Given the description of an element on the screen output the (x, y) to click on. 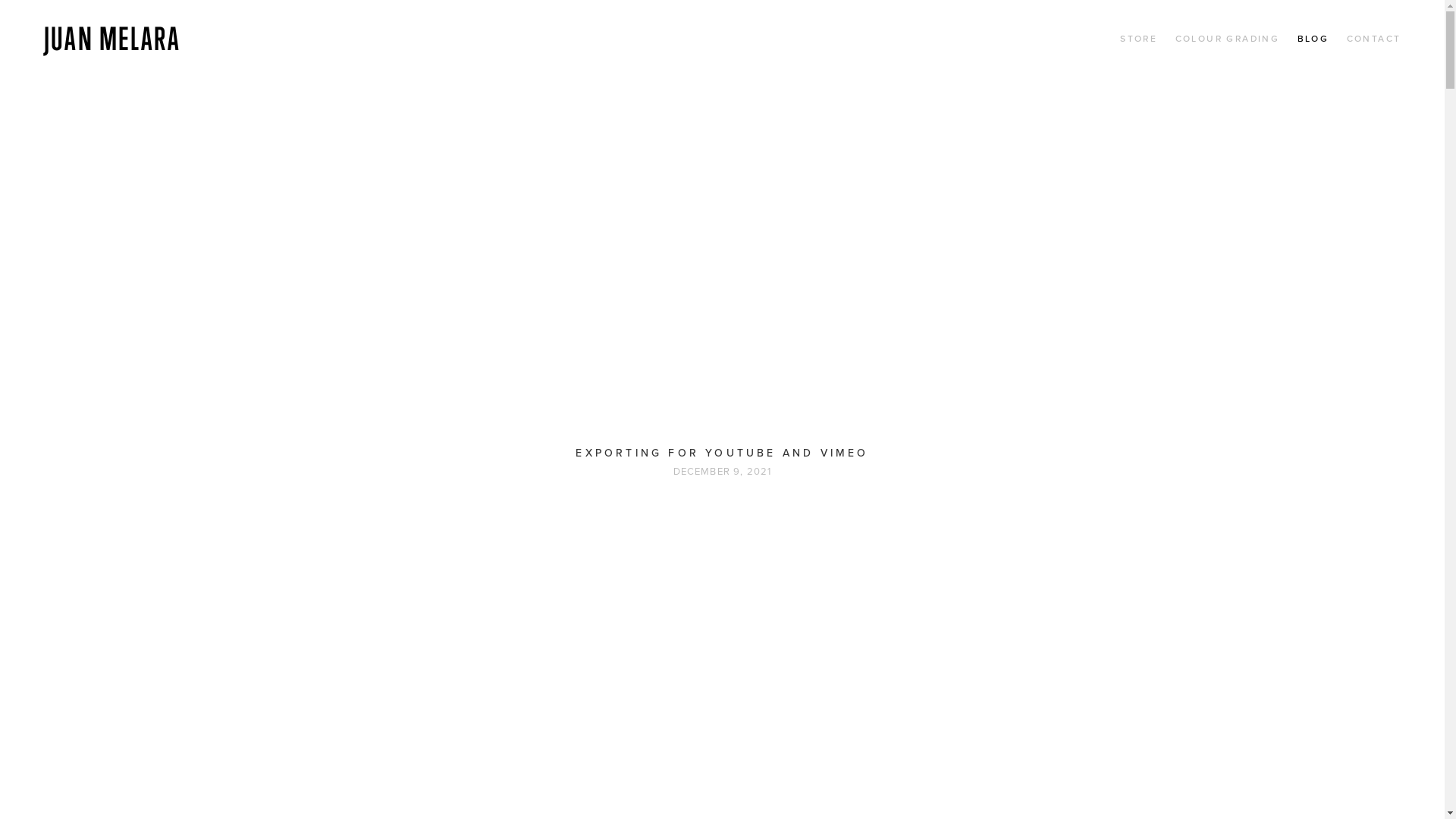
EXPORTING FOR YOUTUBE AND VIMEO Element type: text (722, 453)
COLOUR GRADING Element type: text (1227, 38)
BLOG Element type: text (1313, 38)
STORE Element type: text (1138, 38)
JUAN MELARA Element type: text (111, 37)
CONTACT Element type: text (1373, 38)
